Given the description of an element on the screen output the (x, y) to click on. 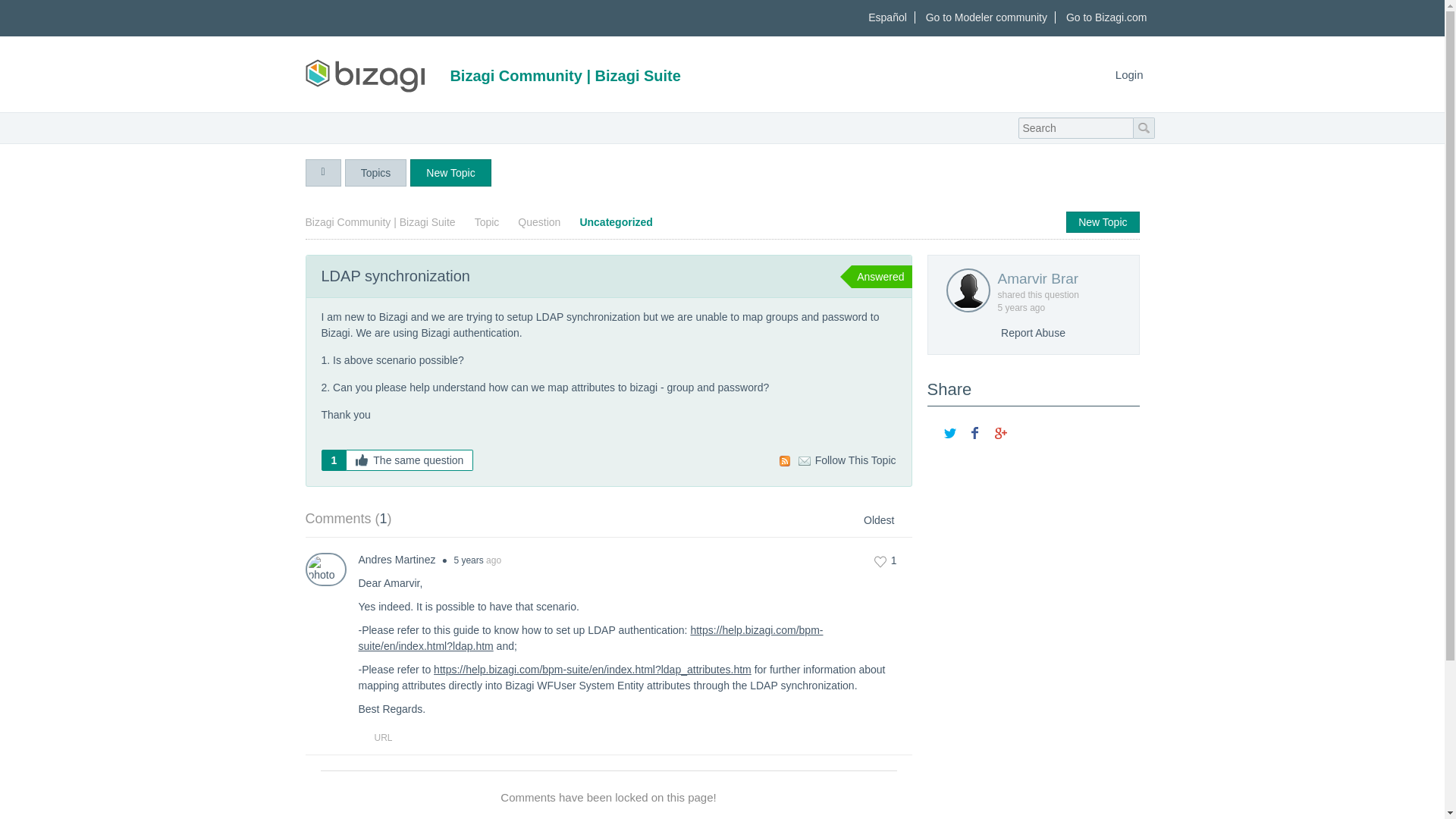
Follow This Topic (846, 460)
Go to Modeler community (986, 17)
Topics (376, 172)
Login (1129, 73)
New Topic (1101, 221)
Question (541, 222)
Amarvir Brar (1056, 278)
URL (374, 737)
Topic (489, 222)
Report Abuse (1033, 332)
1 (886, 560)
1 The same question (397, 459)
2018.10.23 16:57:01 (467, 560)
Andres Martinez (396, 559)
